Given the description of an element on the screen output the (x, y) to click on. 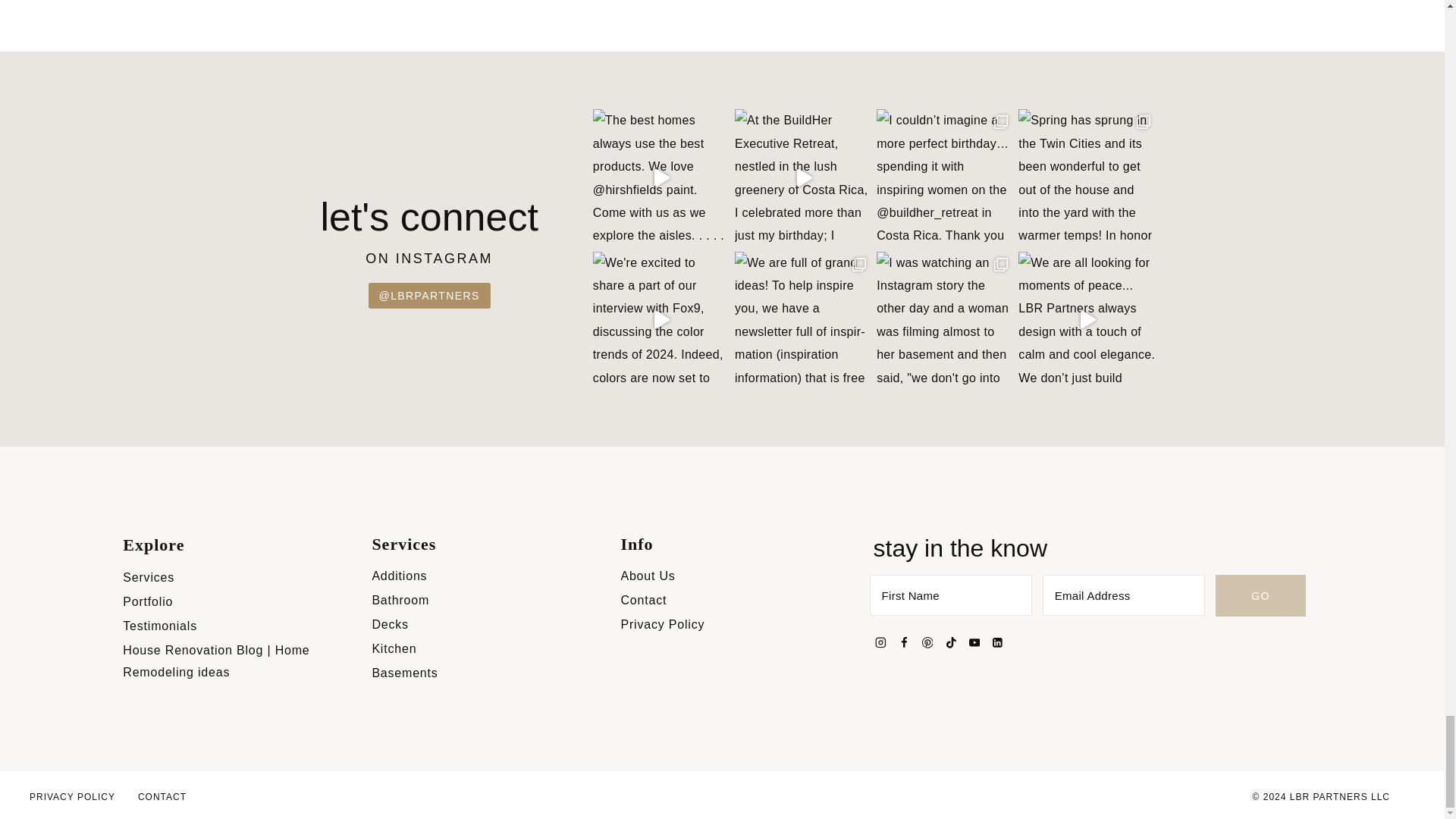
Go (1260, 595)
